Given the description of an element on the screen output the (x, y) to click on. 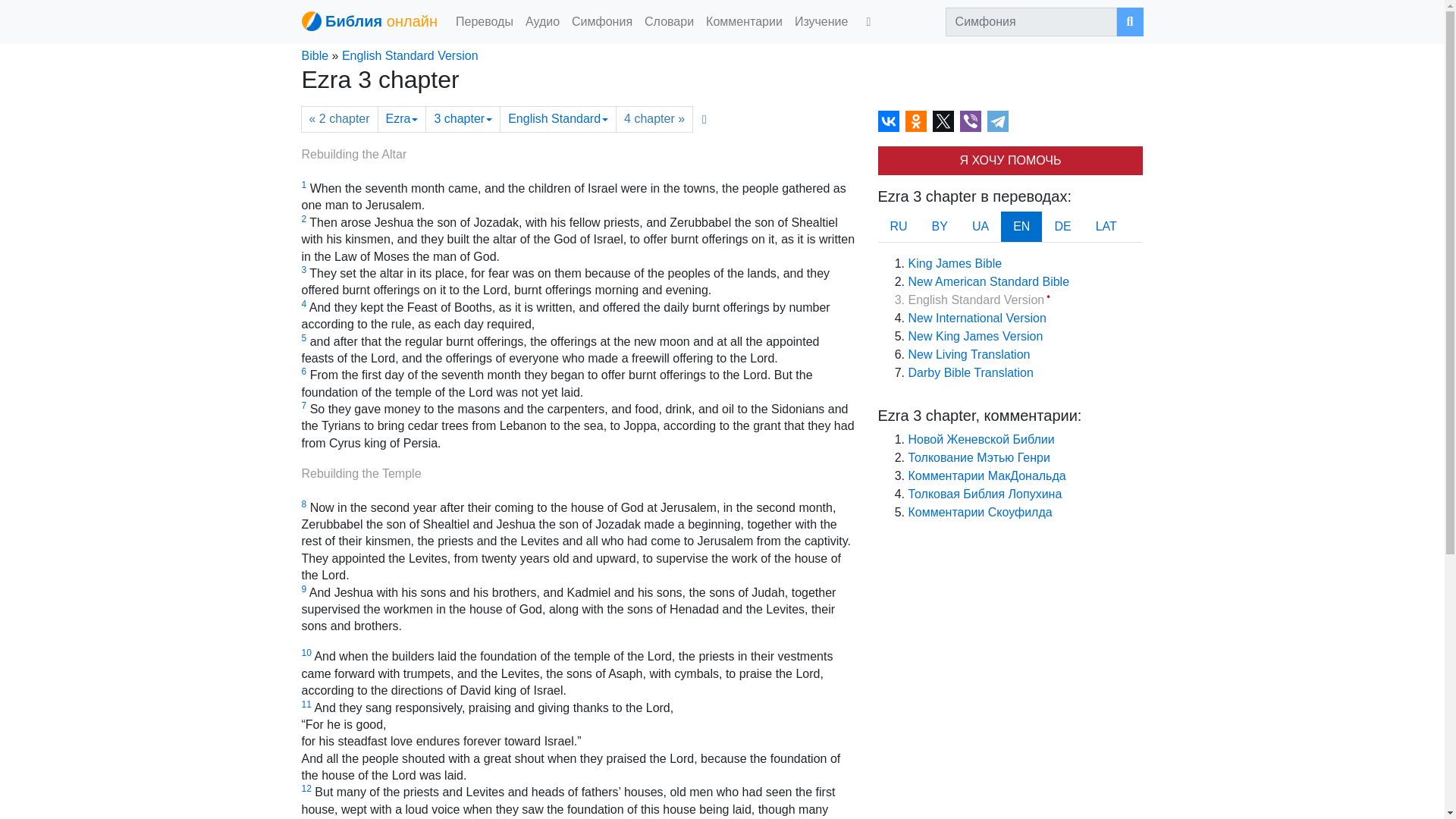
English Standard Version (410, 55)
Bible (315, 55)
3 chapter (462, 119)
11 (306, 704)
Twitter (943, 120)
10 (306, 652)
English Standard (557, 119)
Ezra (401, 119)
Viber (970, 120)
12 (306, 787)
Telegram (998, 120)
